Given the description of an element on the screen output the (x, y) to click on. 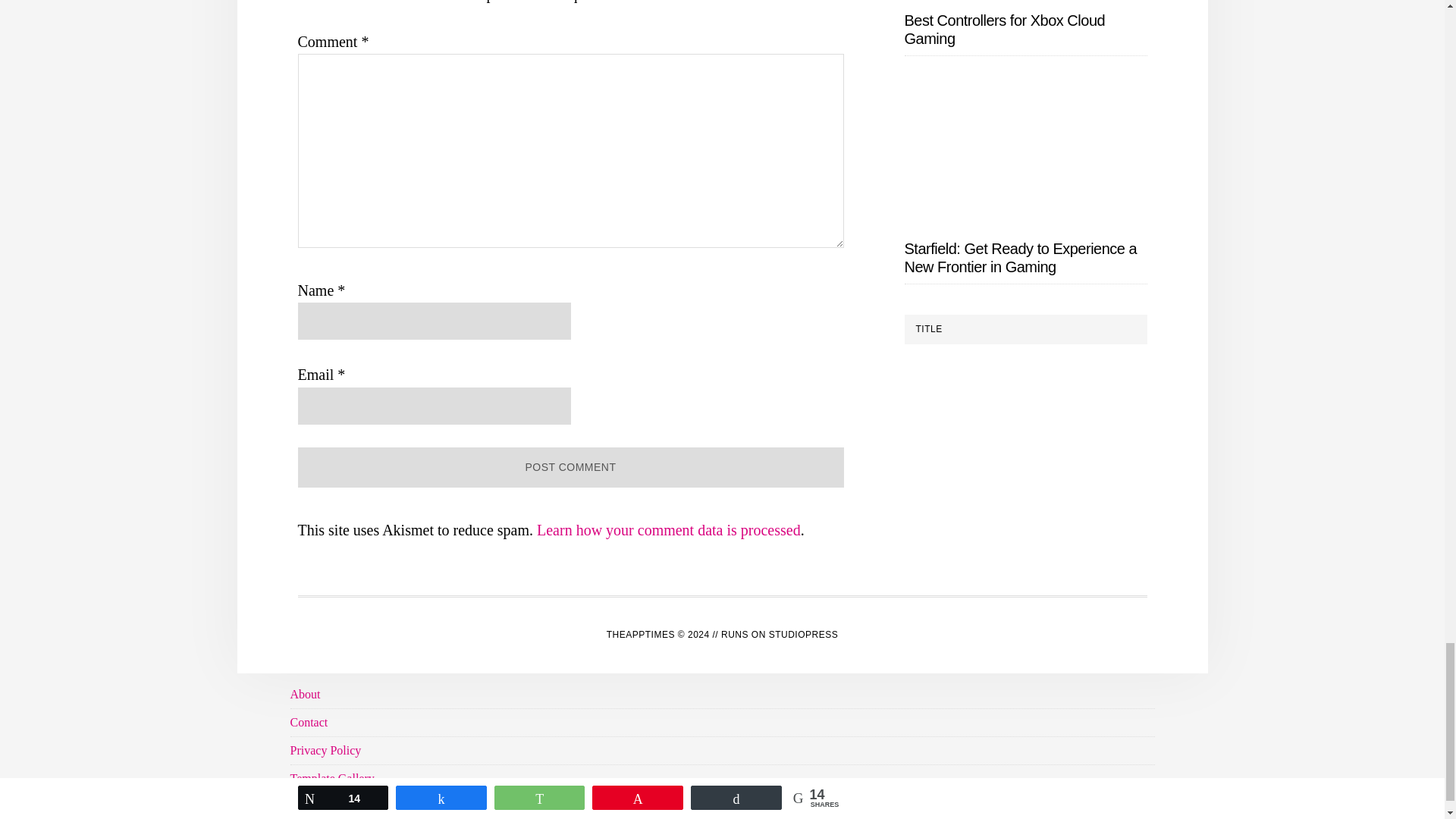
Learn how your comment data is processed (668, 529)
Post Comment (570, 467)
Post Comment (570, 467)
